Given the description of an element on the screen output the (x, y) to click on. 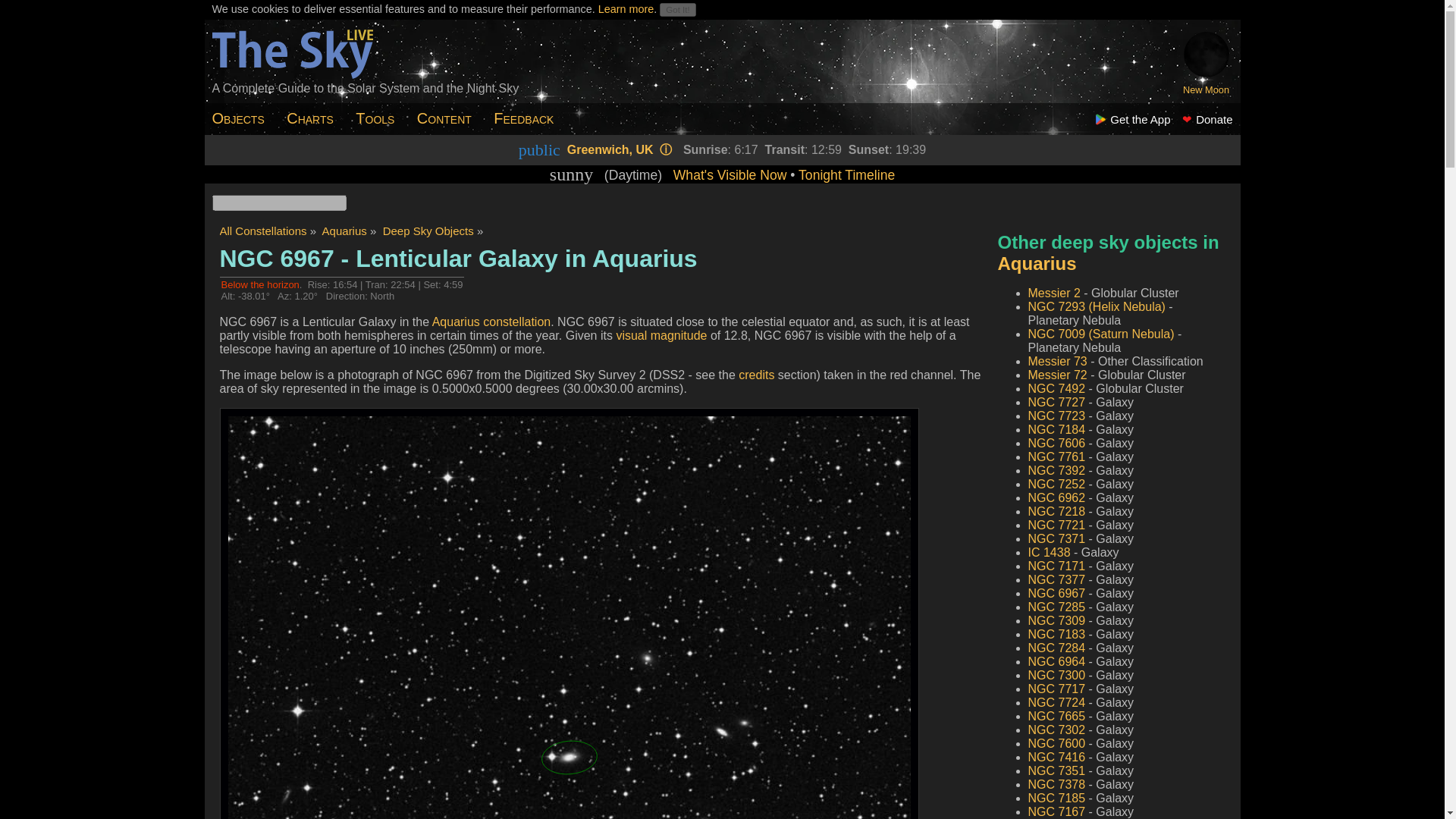
New Moon (1205, 89)
Got It! (677, 9)
Objects (240, 119)
Charts (312, 119)
Learn more (625, 9)
